Given the description of an element on the screen output the (x, y) to click on. 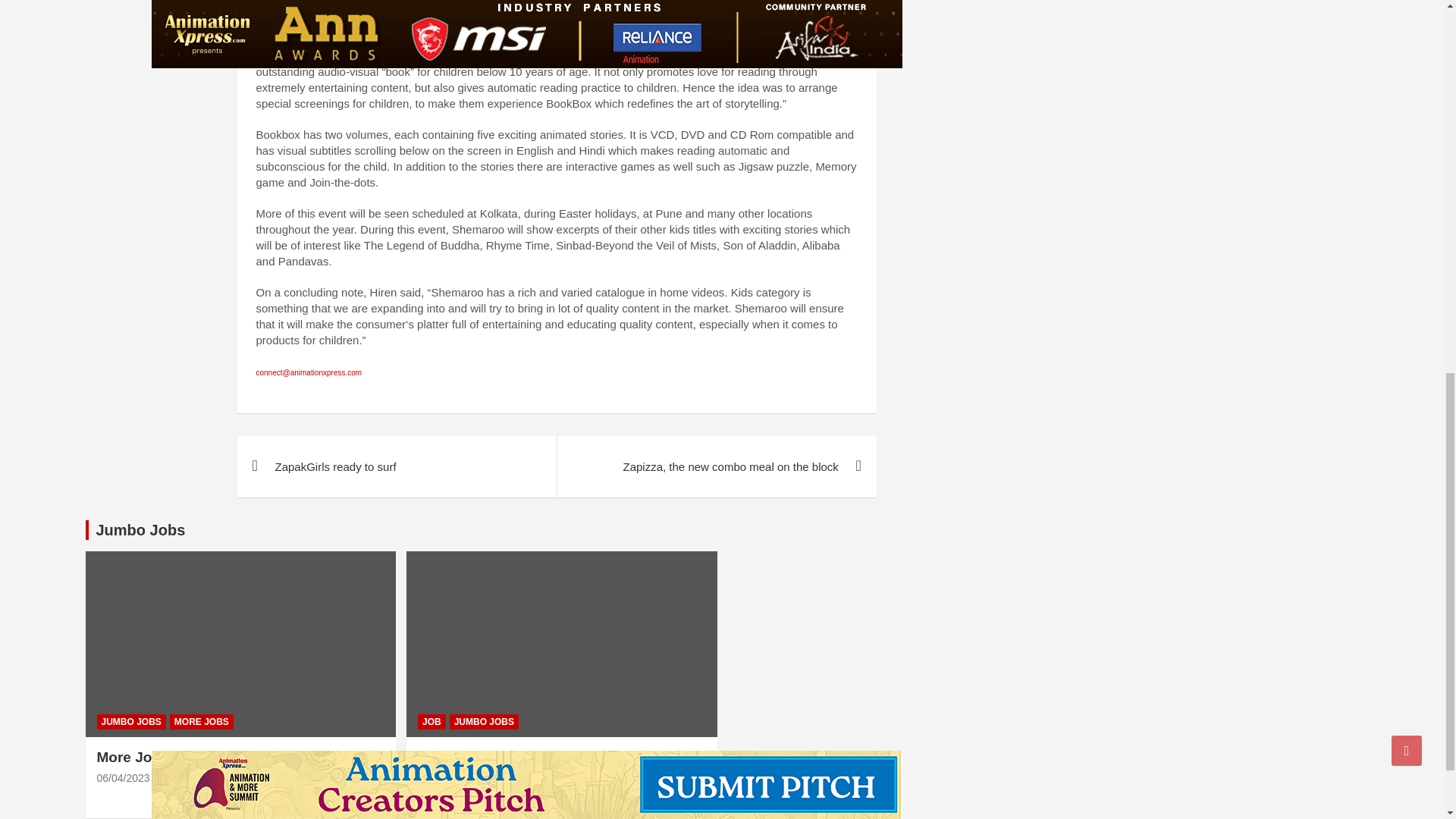
Go to Top (1406, 10)
More Jobs (123, 777)
